Given the description of an element on the screen output the (x, y) to click on. 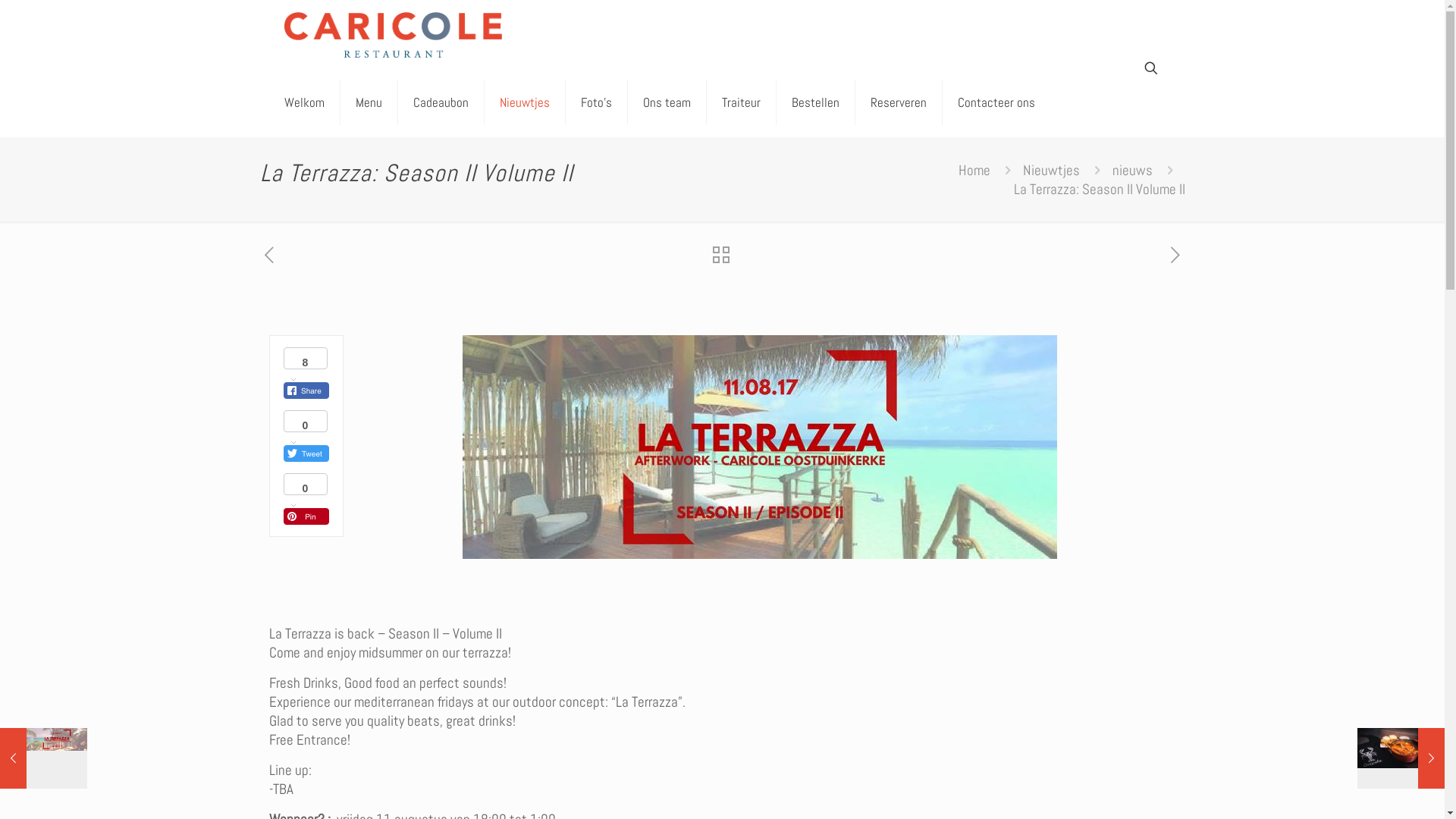
Traiteur Element type: text (741, 102)
Menu Element type: text (368, 102)
Bestellen Element type: text (815, 102)
nieuws Element type: text (1131, 169)
Contacteer ons Element type: text (995, 102)
Cadeaubon Element type: text (440, 102)
Restaurant Caricole Element type: hover (392, 34)
Ons team Element type: text (666, 102)
Reserveren Element type: text (898, 102)
Nieuwtjes Element type: text (523, 102)
Welkom Element type: text (303, 102)
Nieuwtjes Element type: text (1050, 169)
Home Element type: text (974, 169)
